Given the description of an element on the screen output the (x, y) to click on. 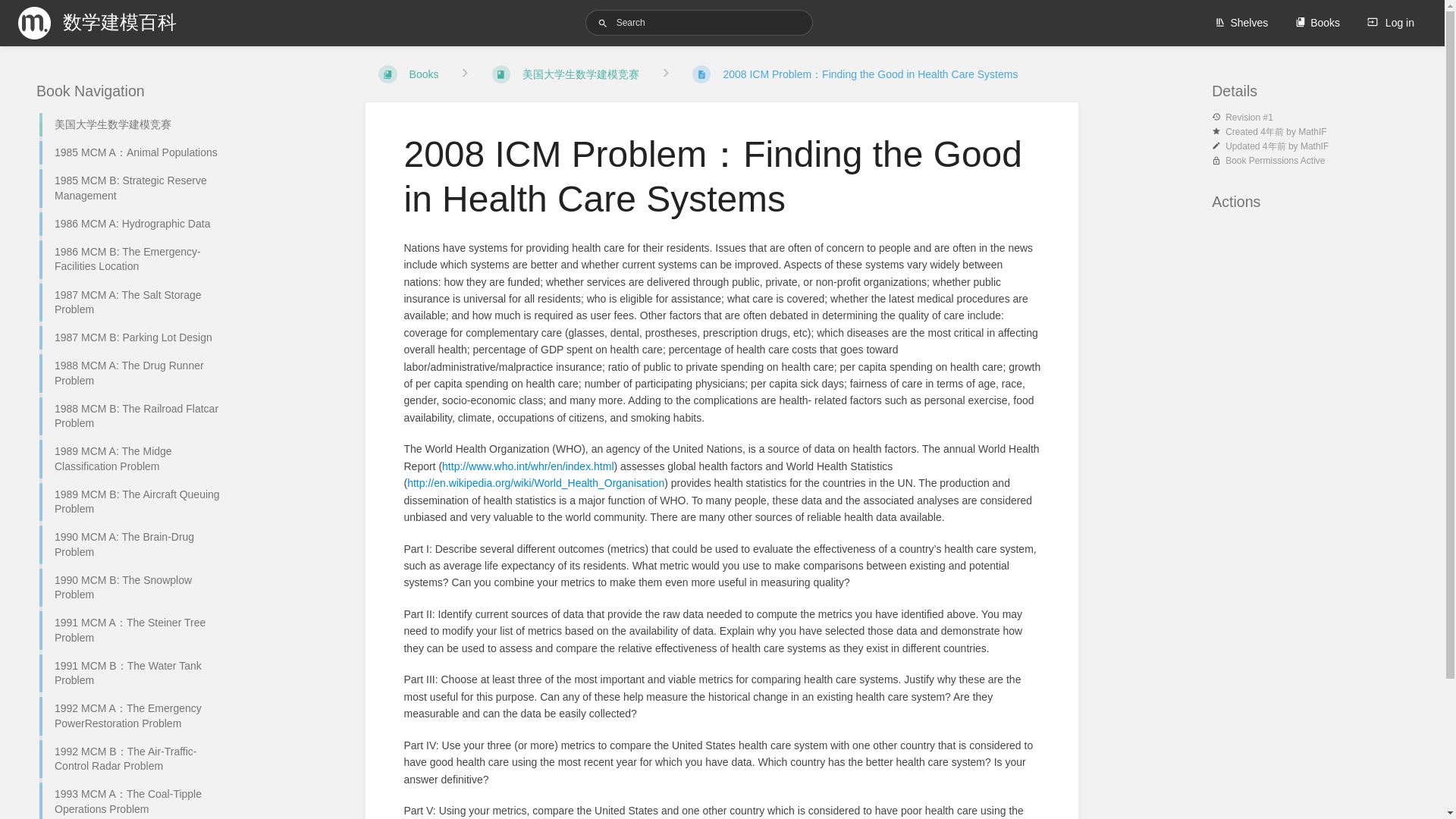
1988 MCM B: The Railroad Flatcar Problem (134, 416)
1990 MCM B: The Snowplow Problem (134, 587)
Tue, Feb 4, 2020 9:11 PM (1272, 131)
Shelves (1240, 22)
1989 MCM B: The Aircraft Queuing Problem (134, 502)
1988 MCM A: The Drug Runner Problem (134, 373)
1985 MCM B: Strategic Reserve Management (134, 188)
Books (1317, 22)
1986 MCM B: The Emergency-Facilities Location (134, 259)
Tue, Feb 4, 2020 9:12 PM (1273, 145)
